Given the description of an element on the screen output the (x, y) to click on. 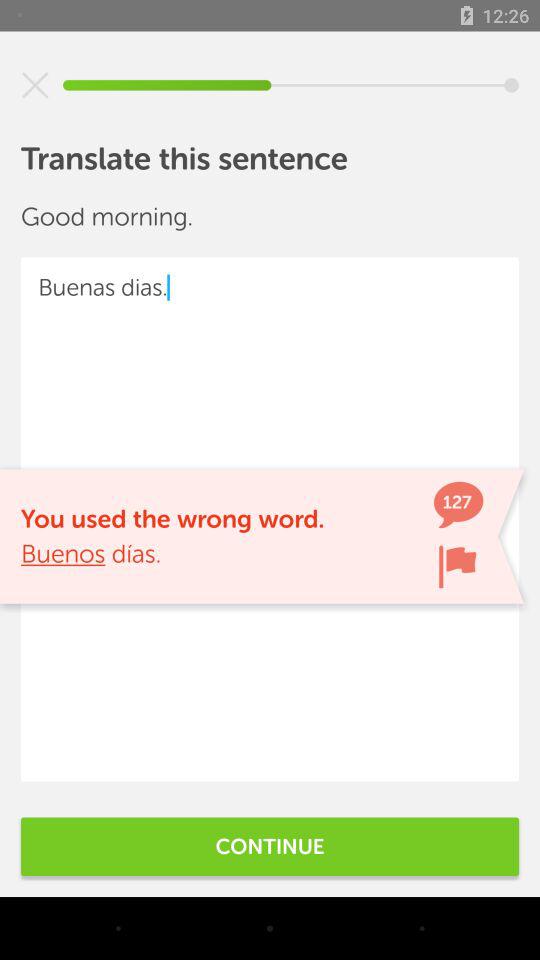
scroll until buenas dias. icon (270, 519)
